Given the description of an element on the screen output the (x, y) to click on. 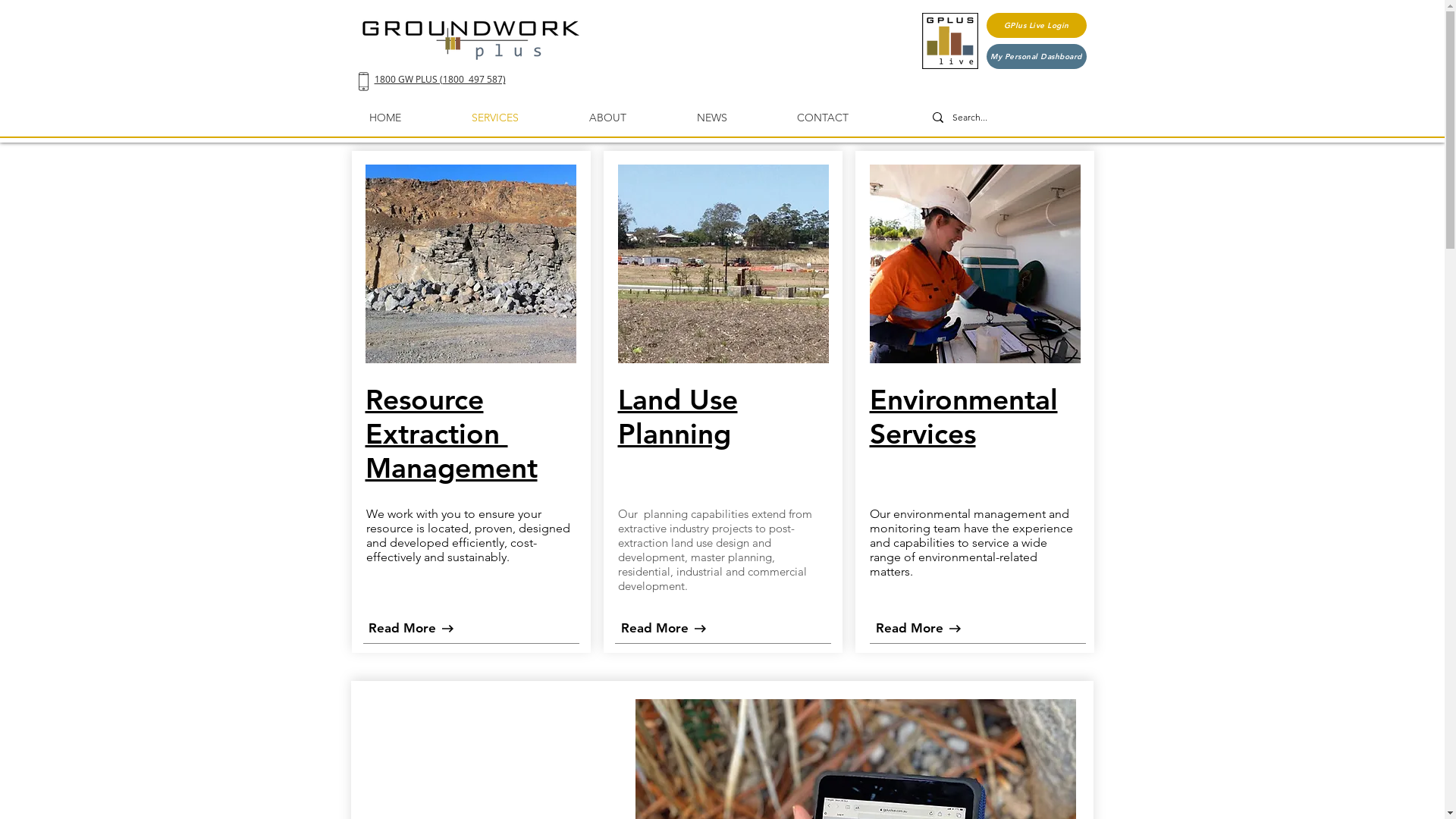
NEWS Element type: text (711, 117)
CONTACT Element type: text (821, 117)
Management Element type: text (451, 467)
HOME Element type: text (384, 117)
Land Use Planning Element type: text (677, 416)
GPlus Live Login Element type: text (1035, 24)
Read More Element type: text (909, 628)
Read More Element type: text (402, 628)
SERVICES Element type: text (493, 117)
Environmental Services Element type: text (963, 416)
My Personal Dashboard Element type: text (1035, 56)
1800 GW PLUS ( Element type: text (408, 78)
Resource Extraction  Element type: text (436, 416)
1800  497 587) Element type: text (473, 78)
Read More Element type: text (654, 628)
